Given the description of an element on the screen output the (x, y) to click on. 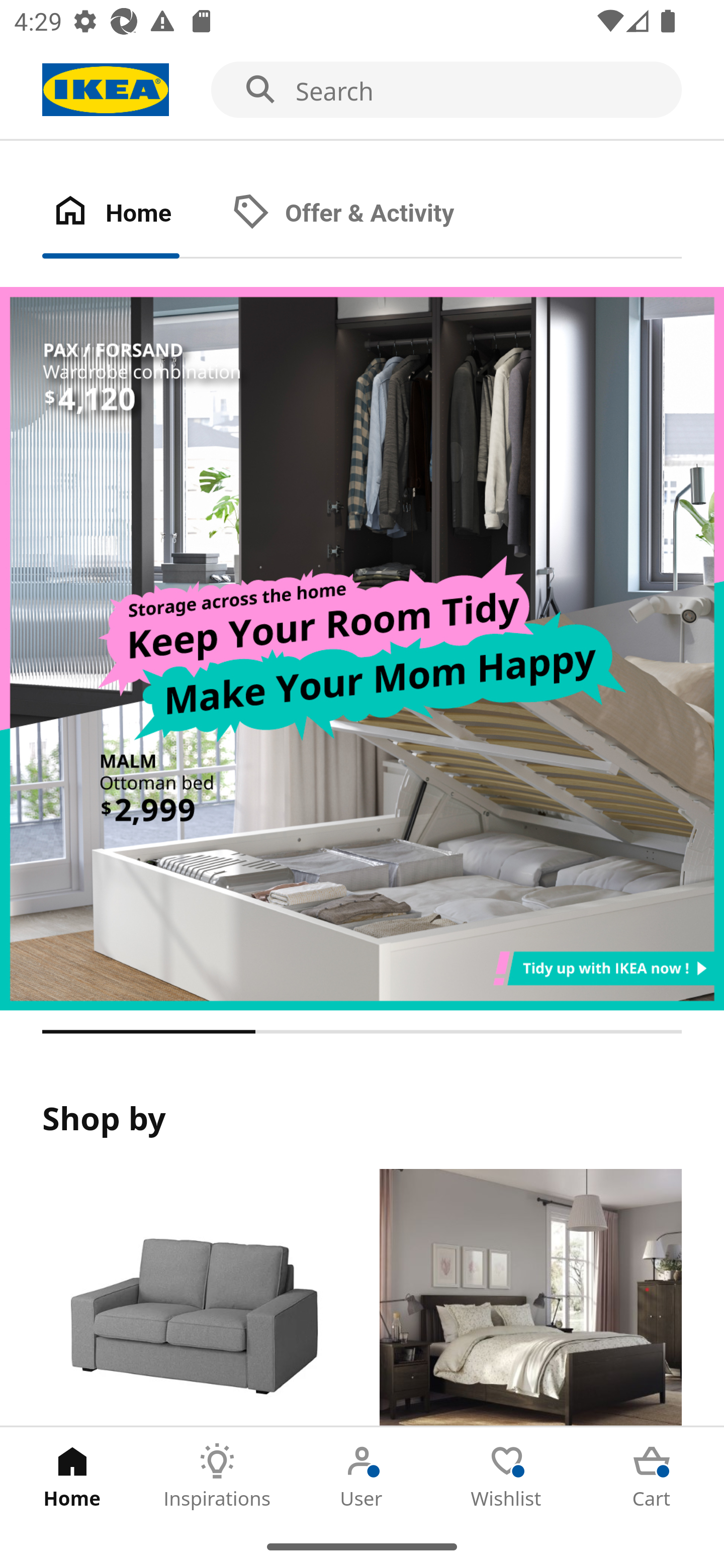
Search (361, 90)
Home
Tab 1 of 2 (131, 213)
Offer & Activity
Tab 2 of 2 (363, 213)
Products (192, 1297)
Rooms (530, 1297)
Home
Tab 1 of 5 (72, 1476)
Inspirations
Tab 2 of 5 (216, 1476)
User
Tab 3 of 5 (361, 1476)
Wishlist
Tab 4 of 5 (506, 1476)
Cart
Tab 5 of 5 (651, 1476)
